Given the description of an element on the screen output the (x, y) to click on. 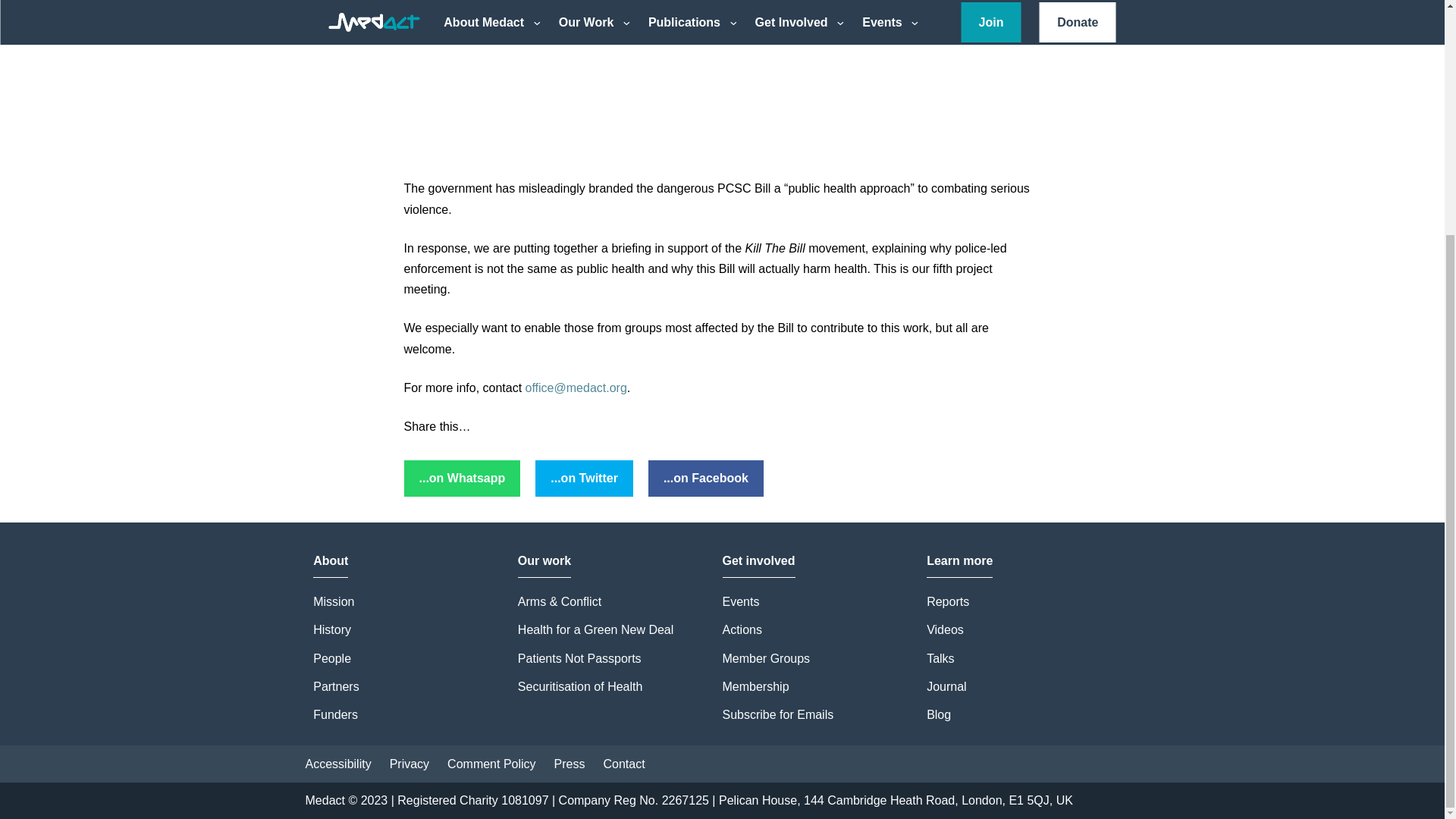
Whatsapp (461, 478)
Twitter (584, 478)
